Given the description of an element on the screen output the (x, y) to click on. 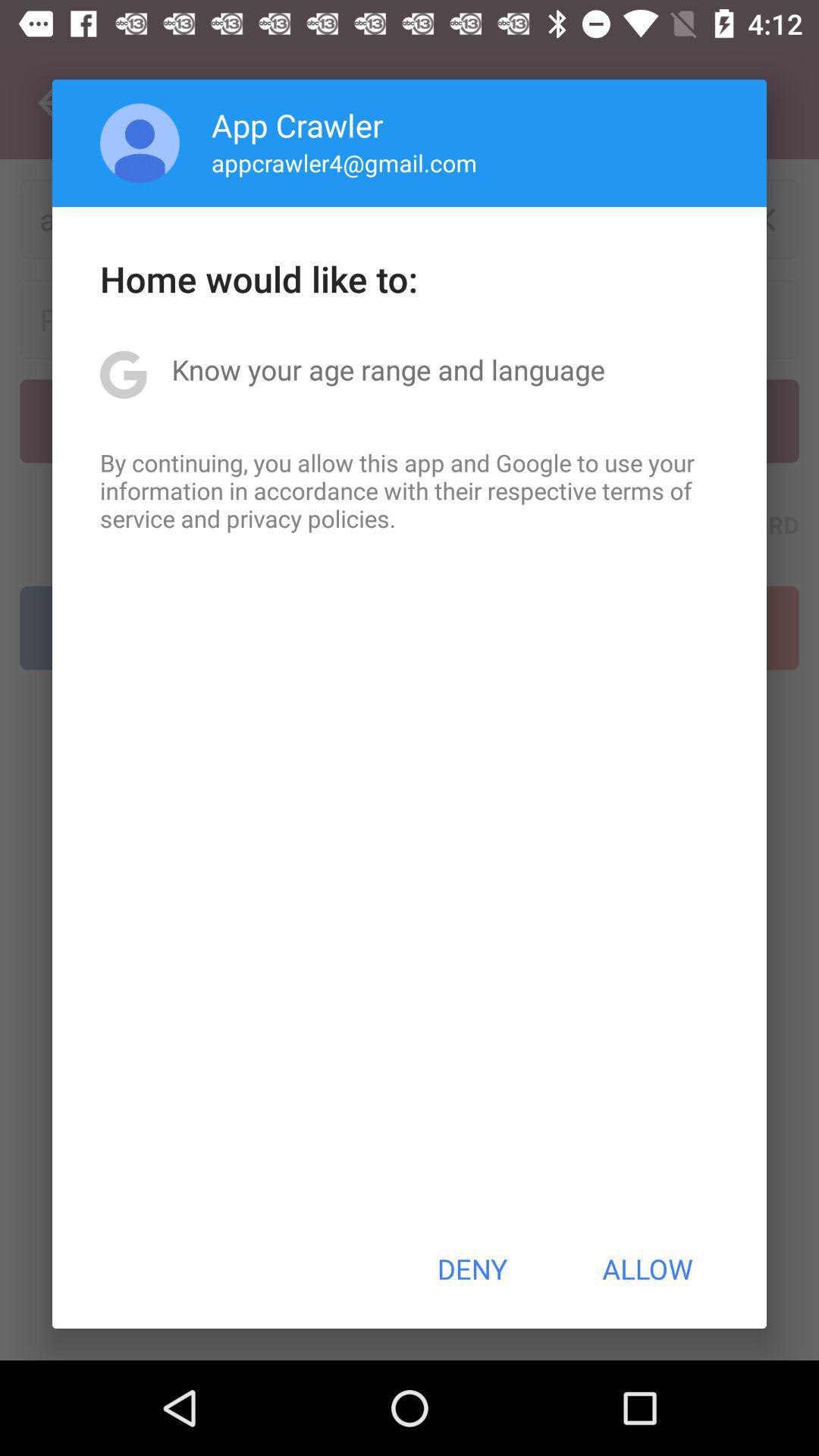
launch the app to the left of app crawler (139, 143)
